Given the description of an element on the screen output the (x, y) to click on. 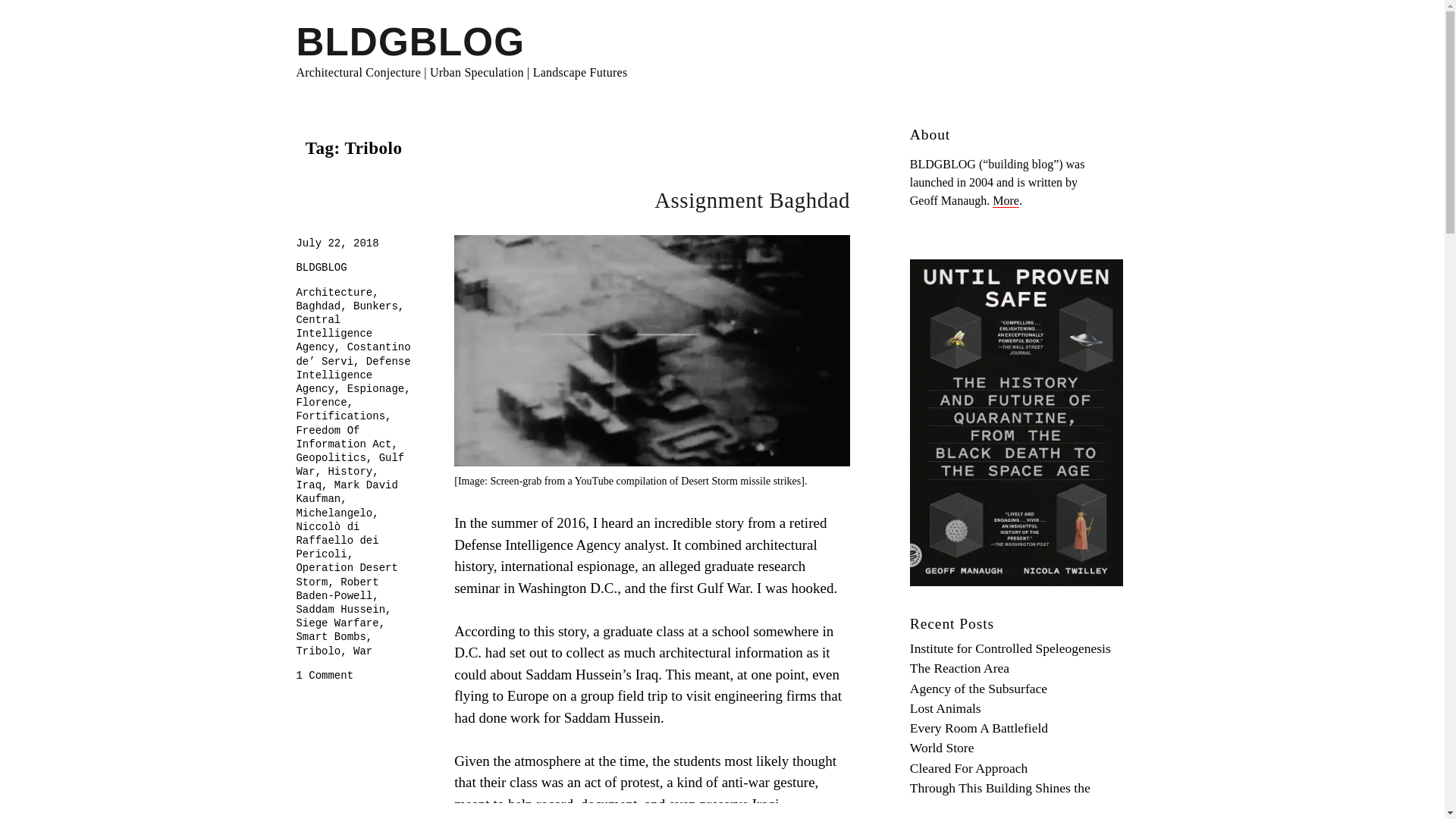
Smart Bombs (330, 636)
War (362, 651)
Freedom Of Information Act (343, 437)
Central Intelligence Agency (333, 332)
Bunkers (375, 306)
Robert Baden-Powell (336, 588)
Michelangelo (333, 512)
Espionage (375, 388)
Assignment Baghdad (751, 200)
Tribolo (317, 651)
Operation Desert Storm (346, 574)
Siege Warfare (336, 623)
Iraq (308, 485)
BLDGBLOG (409, 41)
Geopolitics (330, 458)
